Given the description of an element on the screen output the (x, y) to click on. 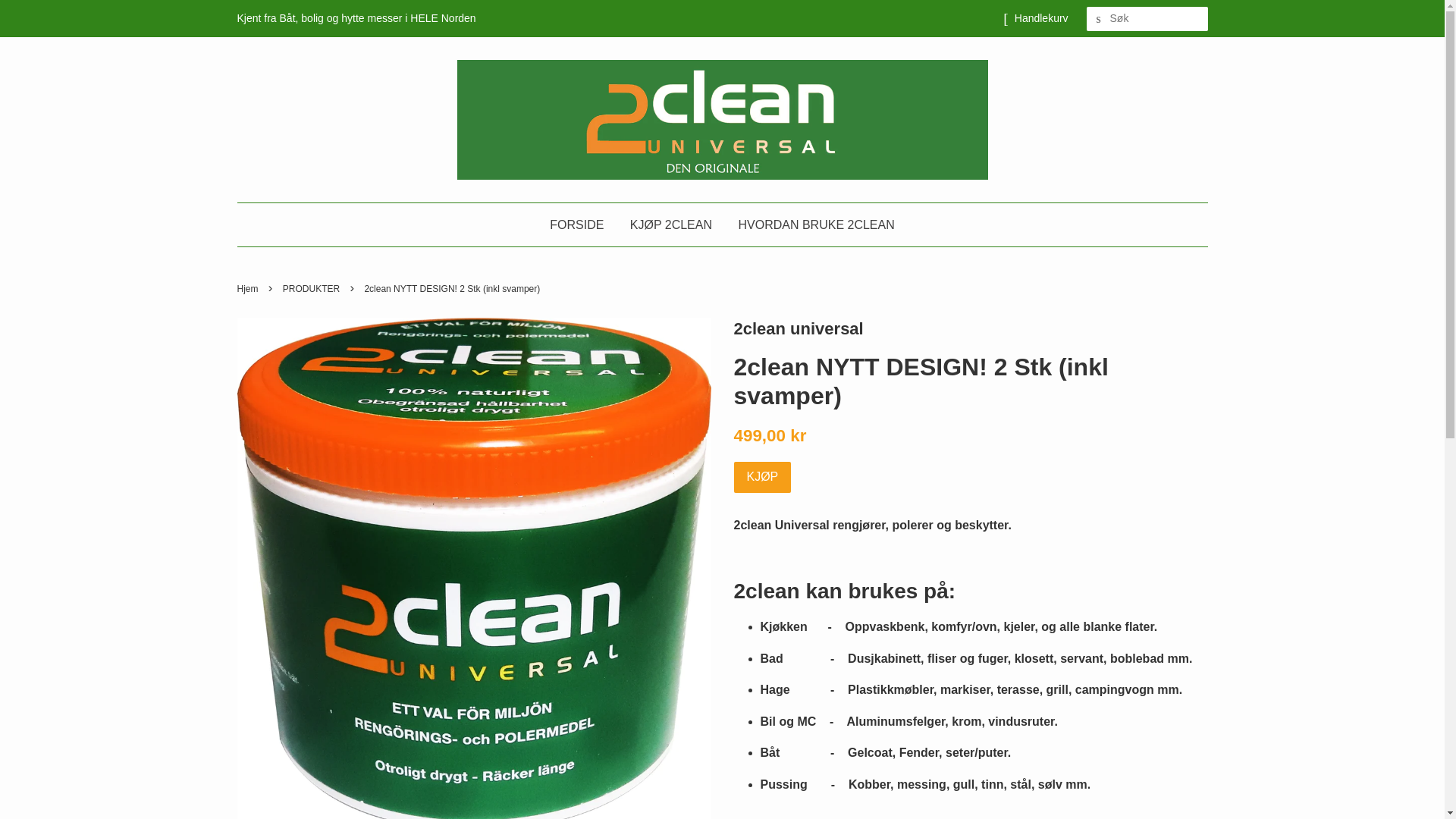
PRODUKTER Element type: text (312, 288)
Hjem Element type: text (248, 288)
Handlekurv Element type: text (1041, 18)
FORSIDE Element type: text (582, 224)
HVORDAN BRUKE 2CLEAN Element type: text (810, 224)
